Given the description of an element on the screen output the (x, y) to click on. 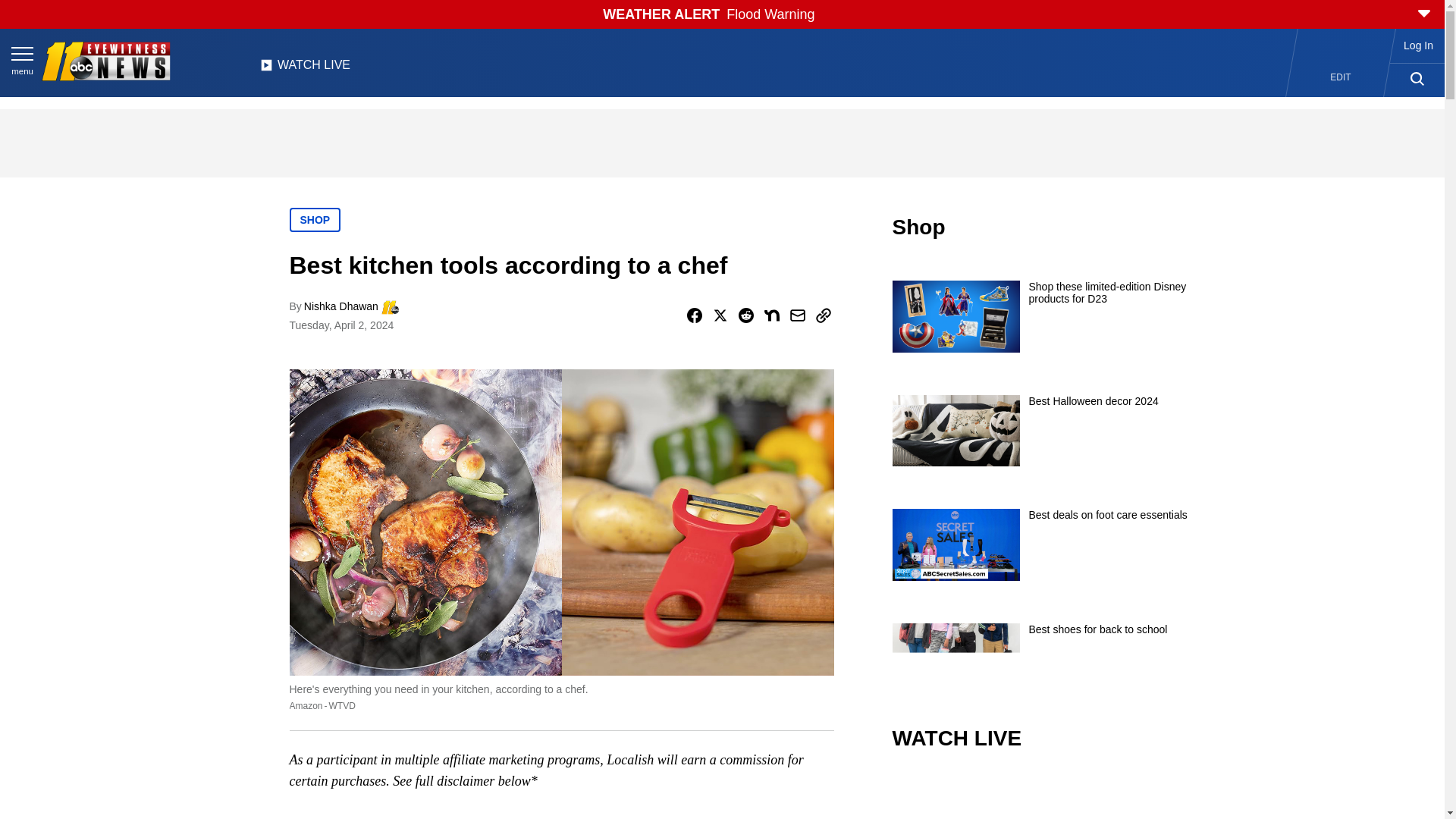
video.title (1043, 796)
WATCH LIVE (305, 69)
EDIT (1340, 77)
